Given the description of an element on the screen output the (x, y) to click on. 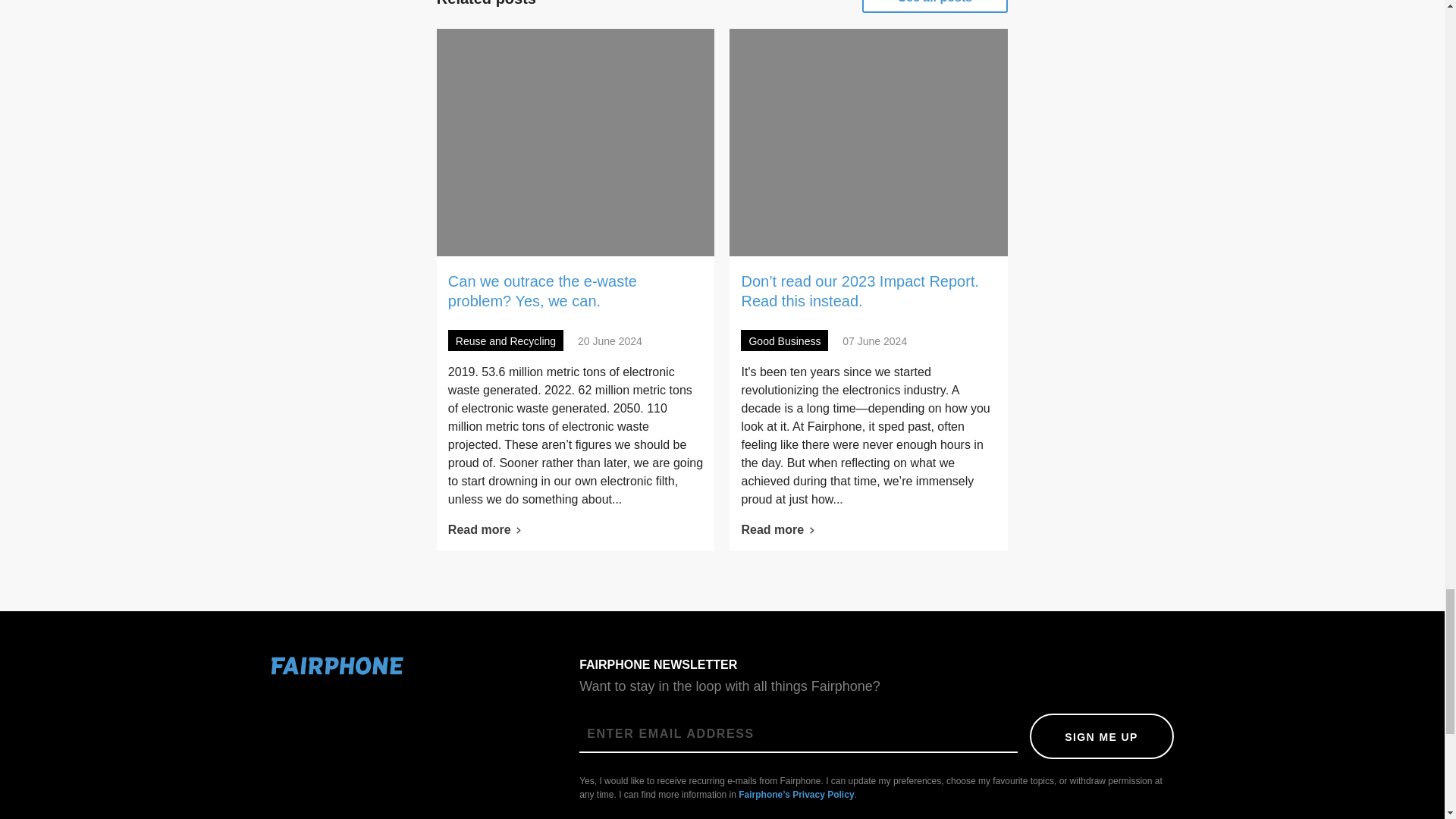
Sign me up (1101, 736)
